Given the description of an element on the screen output the (x, y) to click on. 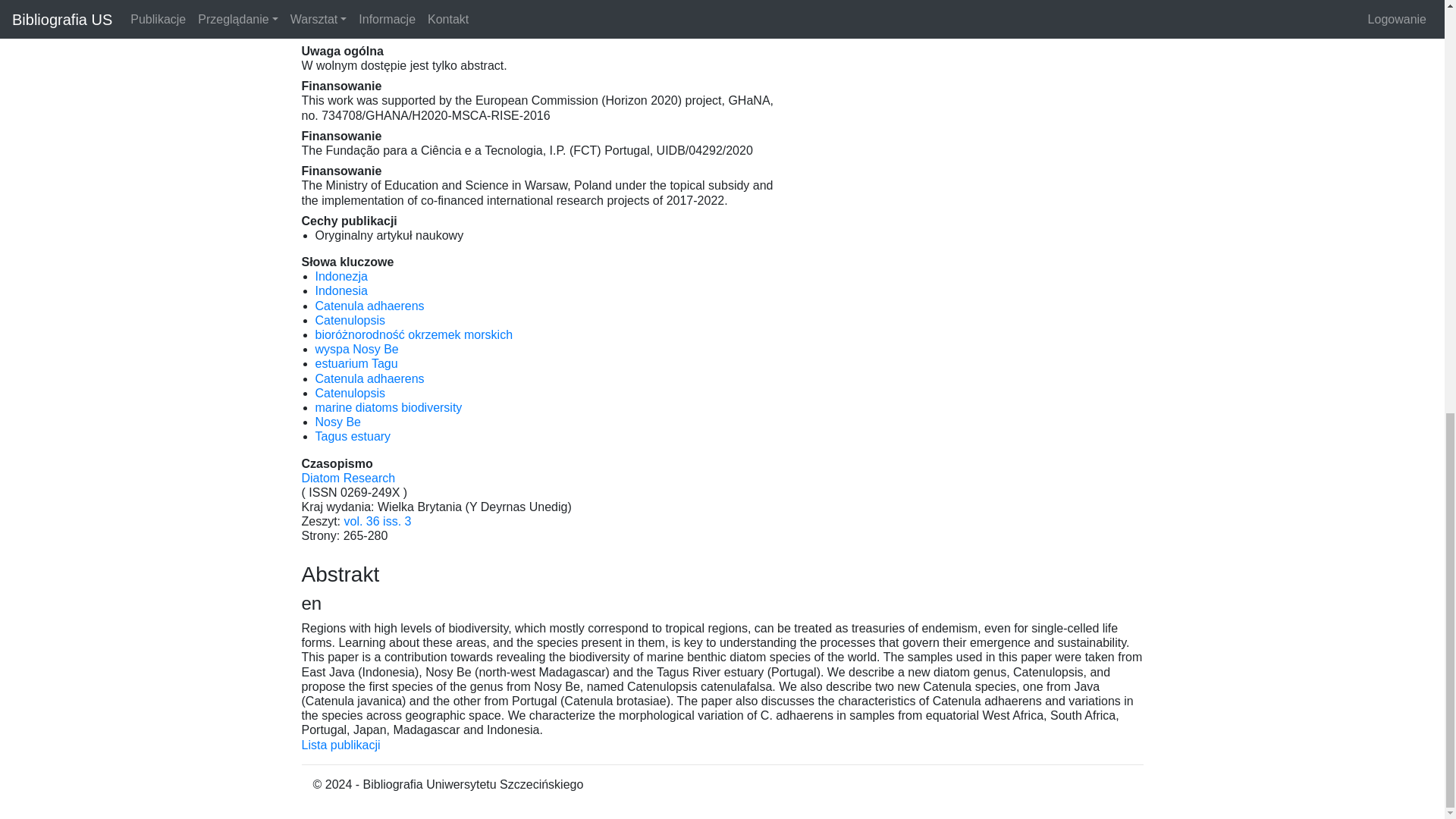
pl (370, 305)
pl (350, 319)
pl (414, 334)
Catenula adhaerens (370, 378)
wyspa Nosy Be (356, 349)
Catenulopsis (350, 319)
pl (341, 276)
Catenula adhaerens (370, 305)
marine diatoms biodiversity (389, 407)
Indonesia (341, 290)
pl (356, 349)
estuarium Tagu (356, 363)
Indonezja (341, 276)
en (341, 290)
Catenulopsis (350, 392)
